Given the description of an element on the screen output the (x, y) to click on. 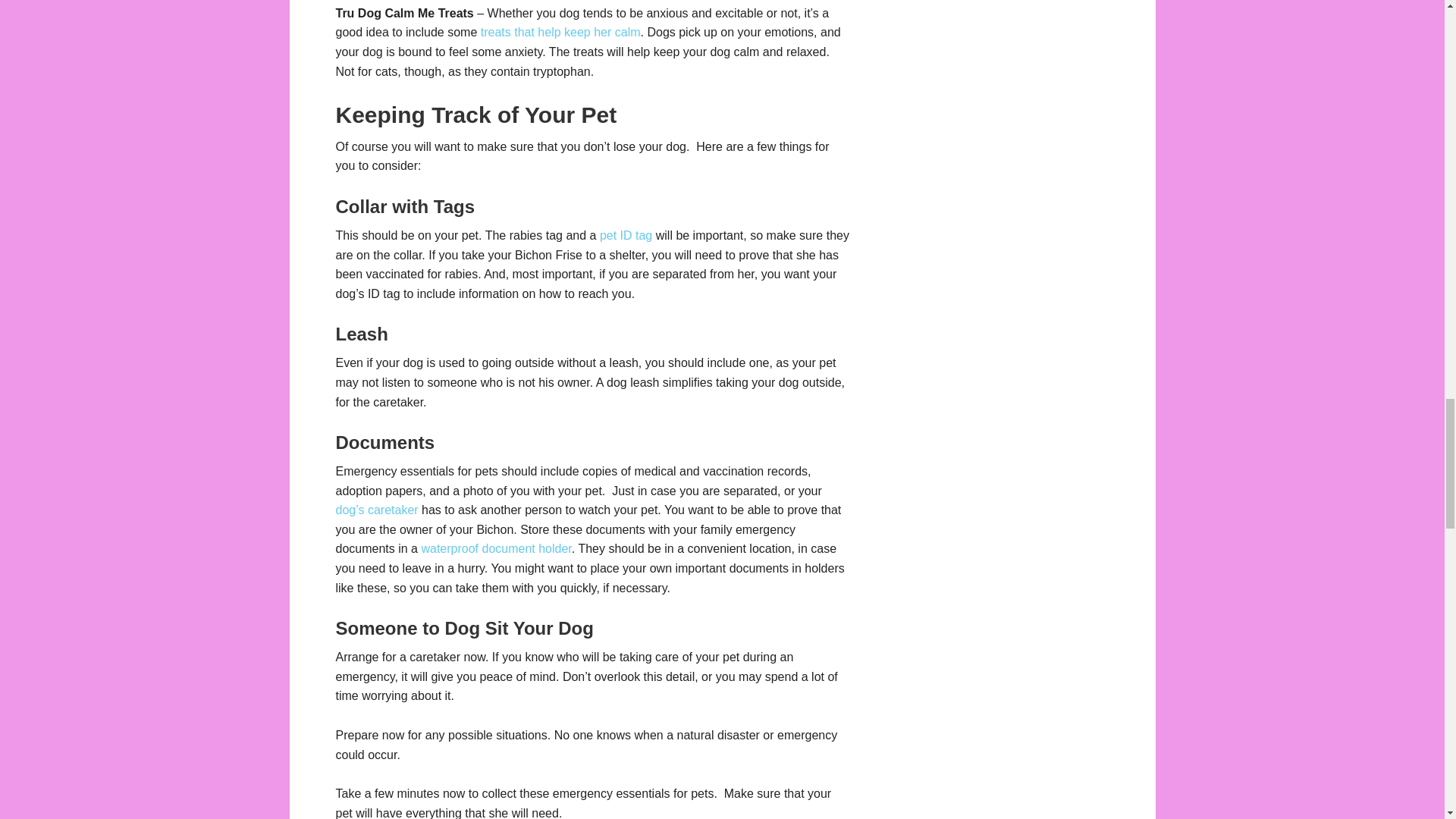
pet ID tag (625, 235)
waterproof document holder (495, 548)
treats that help keep her calm (560, 31)
